Given the description of an element on the screen output the (x, y) to click on. 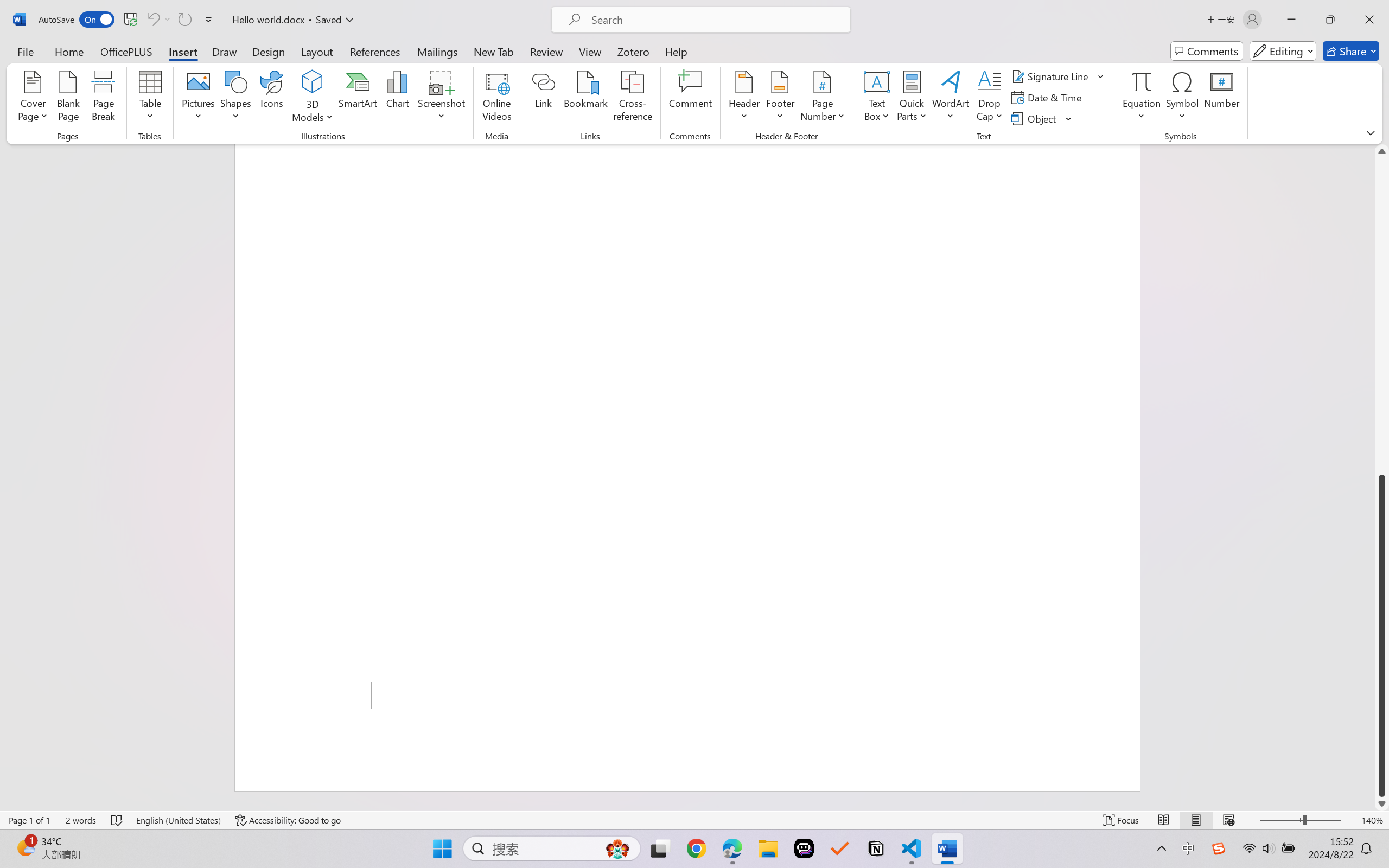
Signature Line (1051, 75)
Page Number Page 1 of 1 (29, 819)
Save (130, 19)
Cross-reference... (632, 97)
Page 1 content (687, 413)
Object... (1035, 118)
Table (149, 97)
Blank Page (67, 97)
Line down (1382, 803)
Close (1369, 19)
Can't Repeat (184, 19)
Web Layout (1228, 819)
Page up (1382, 315)
3D Models (312, 97)
Minimize (1291, 19)
